Given the description of an element on the screen output the (x, y) to click on. 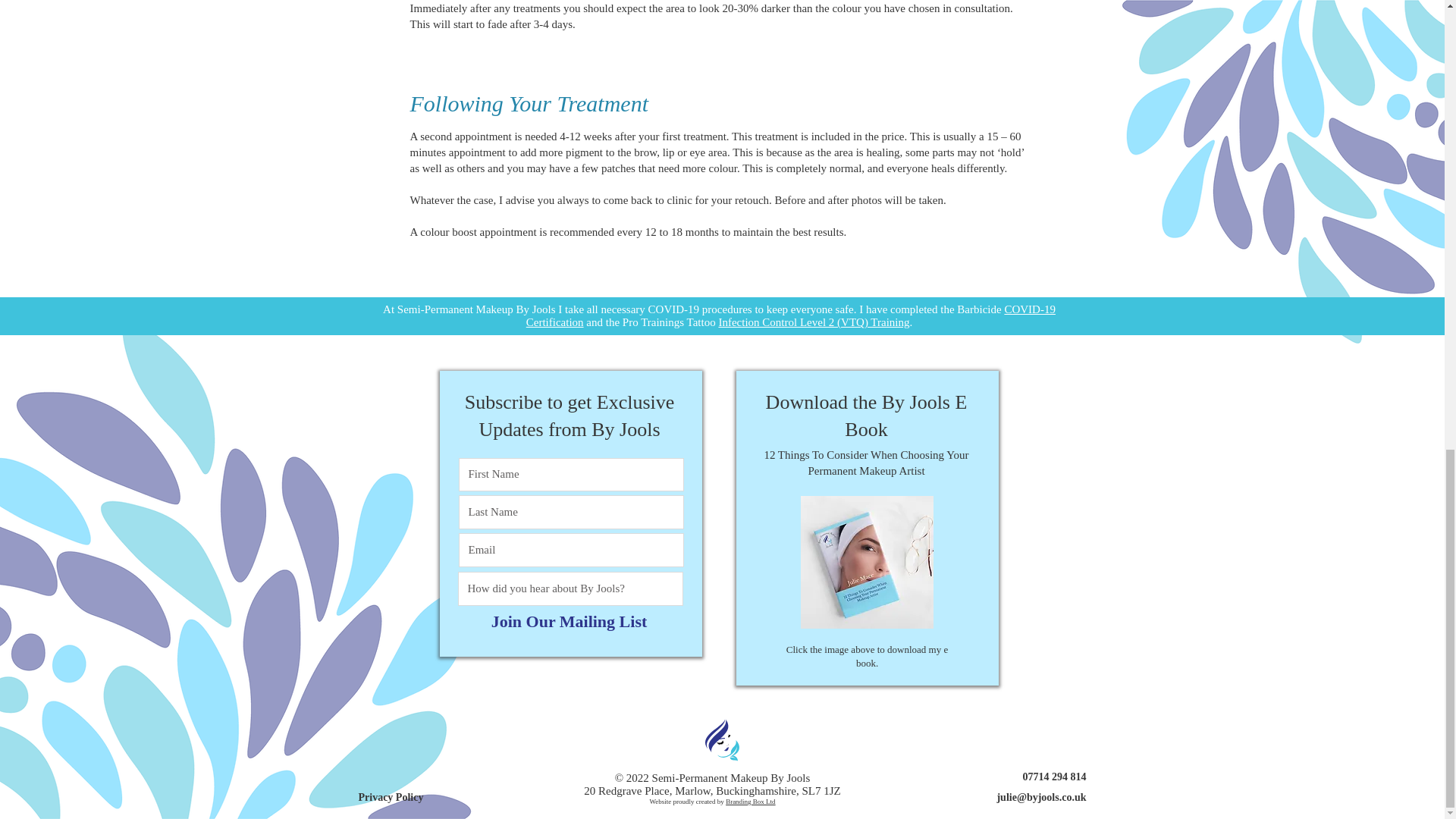
07714 294 814 (1026, 776)
COVID-19 Certification (790, 315)
Branding Box Ltd (750, 801)
Join Our Mailing List (568, 622)
Privacy Policy (408, 797)
